Given the description of an element on the screen output the (x, y) to click on. 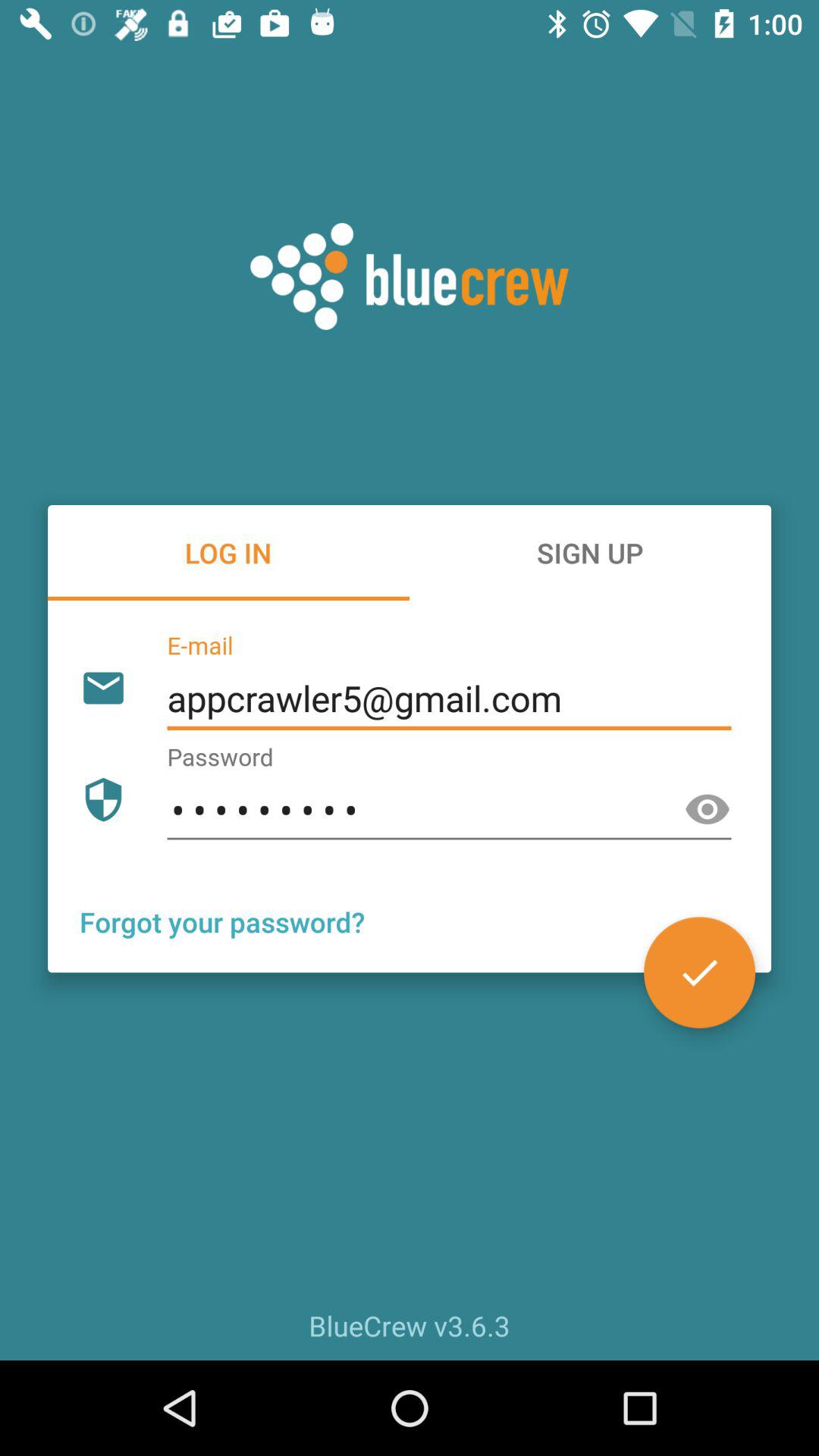
select the app (699, 972)
